Given the description of an element on the screen output the (x, y) to click on. 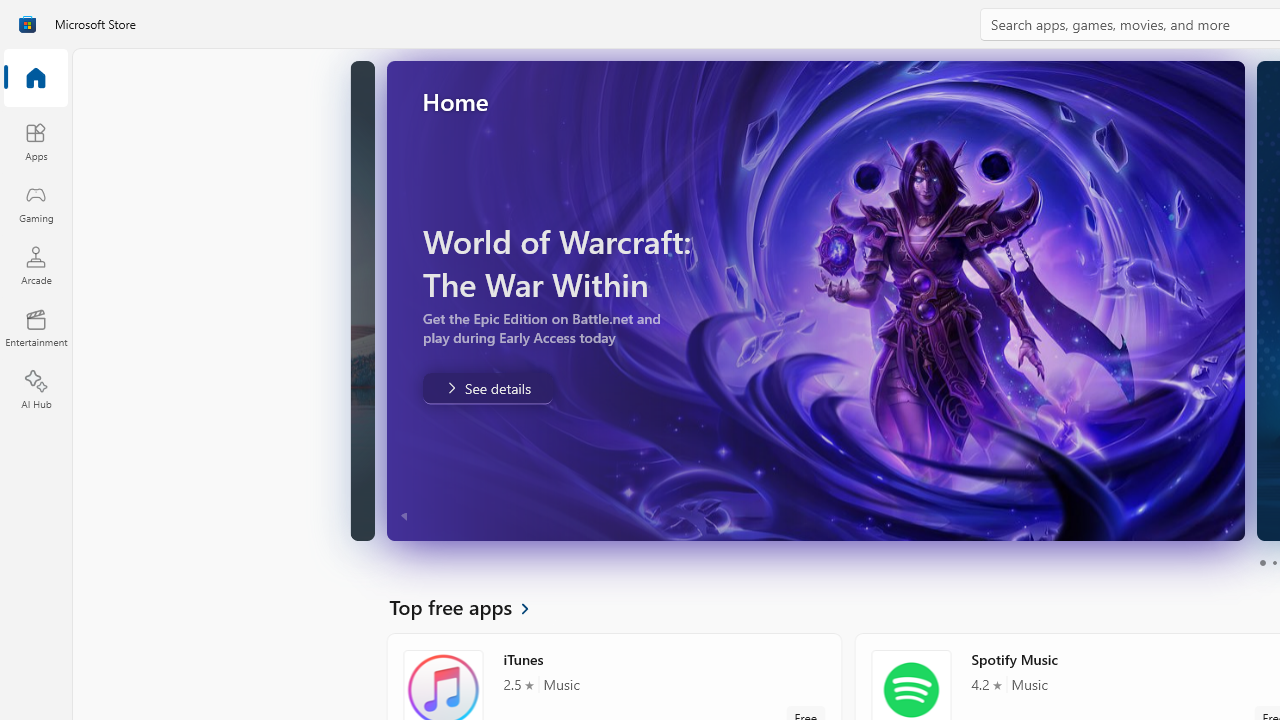
Page 2 (1274, 562)
AutomationID: Image (714, 300)
gamescom. See the best of the show.  . See details (1193, 387)
Page 1 (1261, 562)
See all  Top free apps (471, 606)
